Given the description of an element on the screen output the (x, y) to click on. 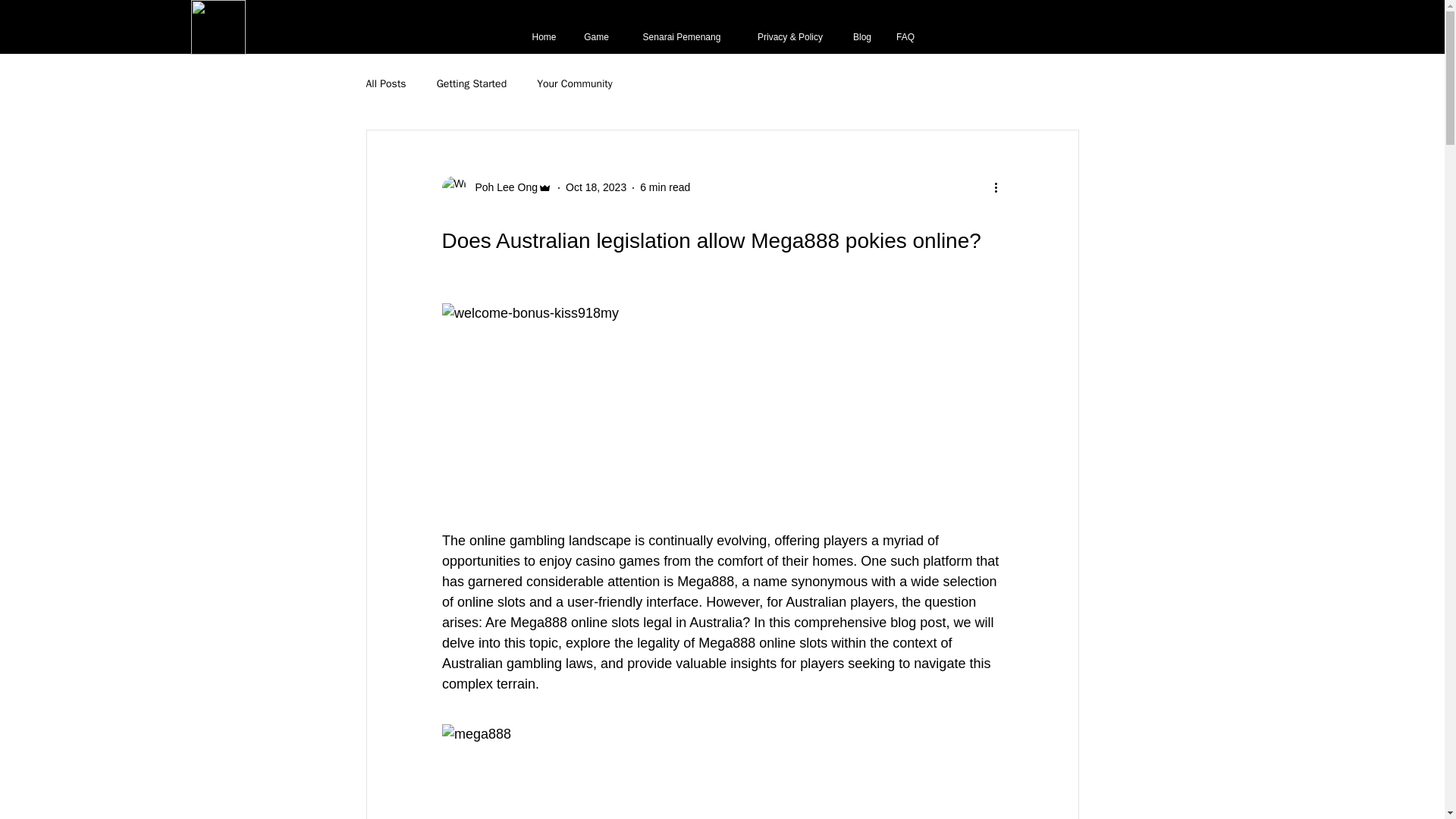
Your Community (574, 83)
Blog (861, 37)
Poh Lee Ong (501, 187)
Oct 18, 2023 (596, 186)
Home (543, 37)
FAQ (904, 37)
Game (596, 37)
Getting Started (471, 83)
All Posts (385, 83)
Senarai Pemenang (681, 37)
6 min read (665, 186)
